Given the description of an element on the screen output the (x, y) to click on. 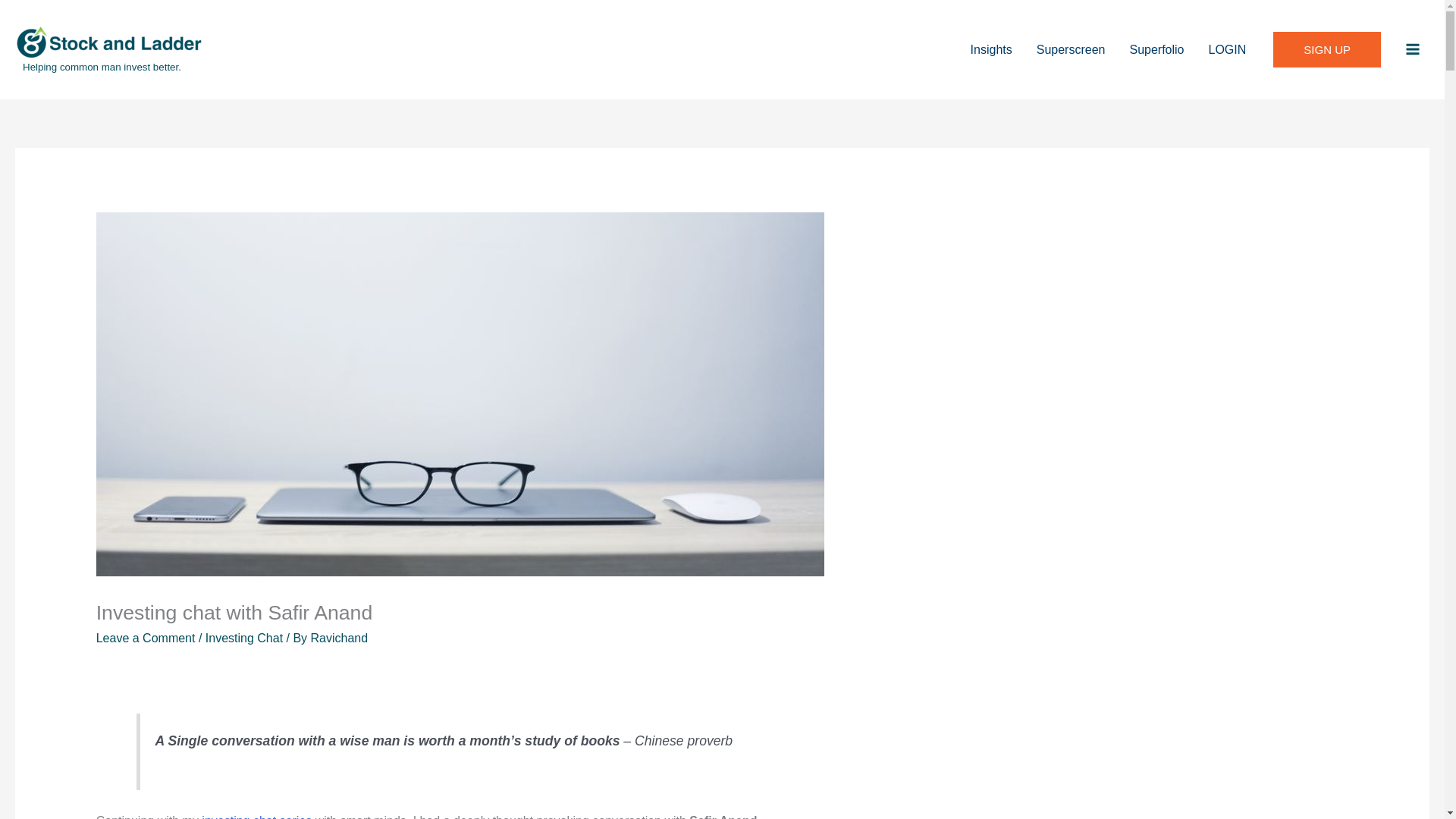
Superfolio (1155, 49)
SIGN UP (1326, 49)
Ravichand (339, 637)
Investing Chat (243, 637)
Leave a Comment (145, 637)
investing chat series (256, 816)
LOGIN (1227, 49)
Superscreen (1071, 49)
View all posts by Ravichand (339, 637)
Insights (991, 49)
